Given the description of an element on the screen output the (x, y) to click on. 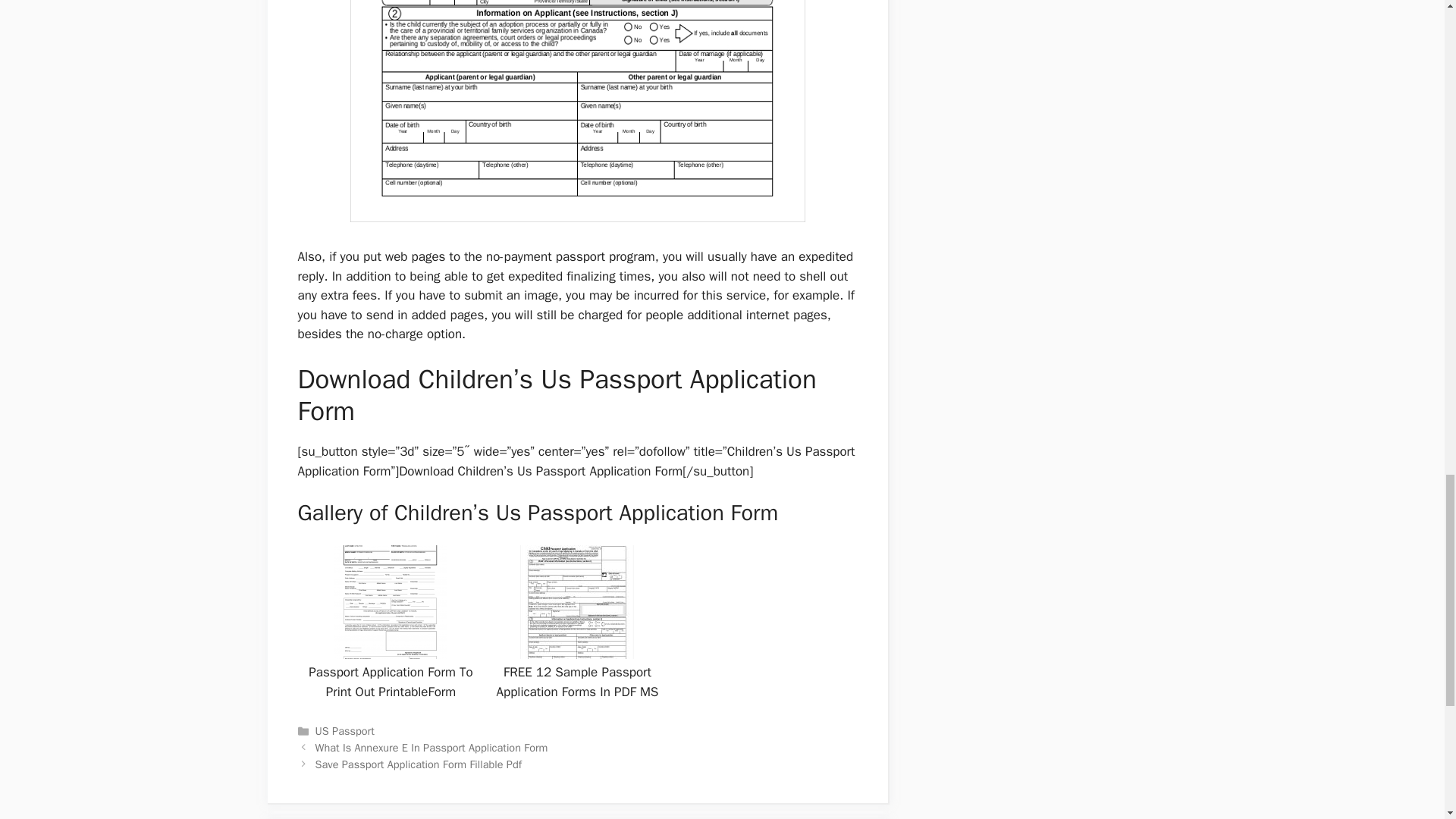
Previous (431, 747)
Next (418, 764)
Save Passport Application Form Fillable Pdf (418, 764)
What Is Annexure E In Passport Application Form (431, 747)
US Passport (344, 730)
